Given the description of an element on the screen output the (x, y) to click on. 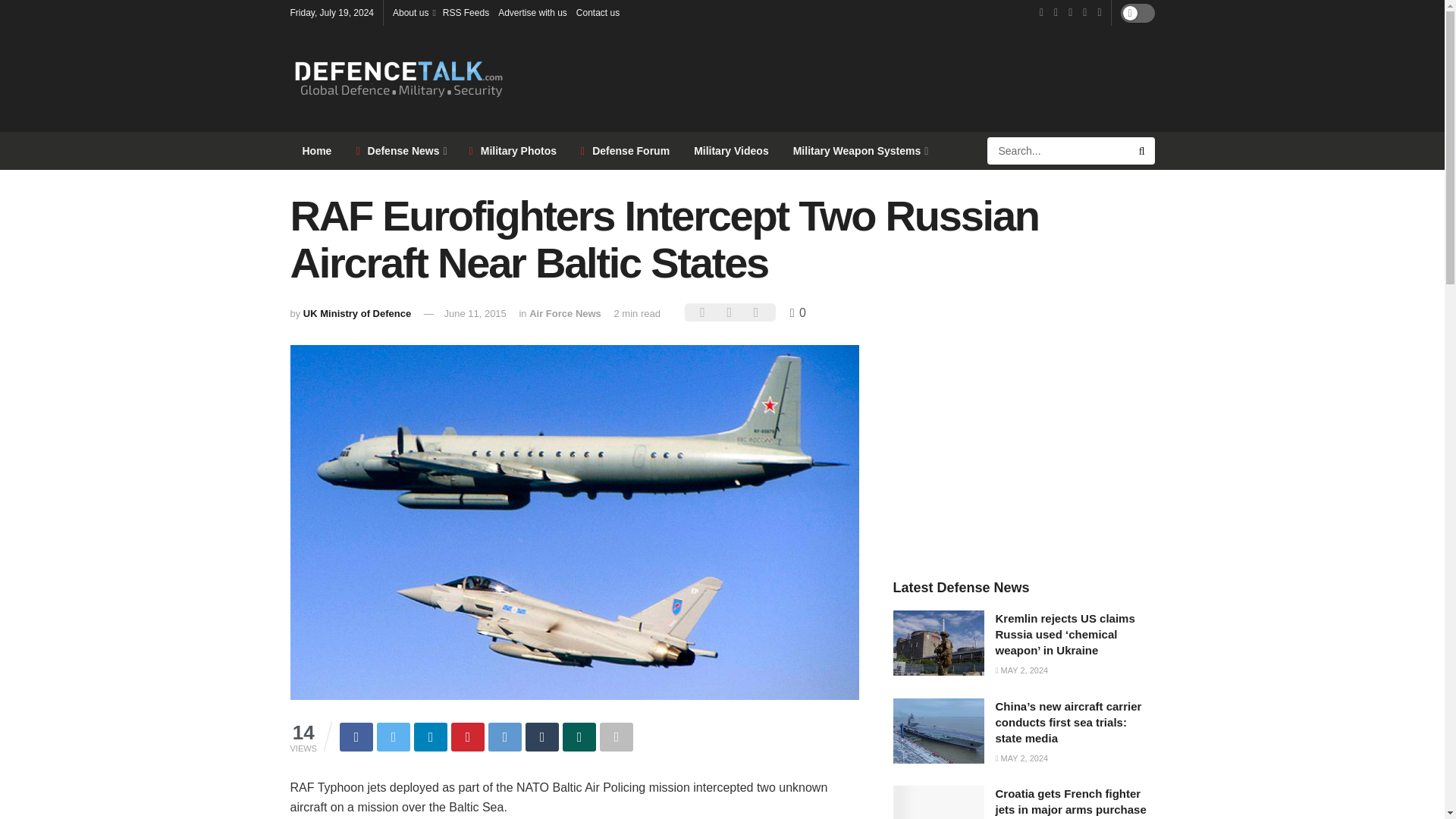
Advertise with us (532, 12)
About us (413, 12)
Military Weapon Systems (859, 150)
Defense Forum (625, 150)
Military Photos (513, 150)
Defense News (400, 150)
RSS Feeds (465, 12)
Advertise (532, 12)
Defense News (400, 150)
About Defense Talk (413, 12)
Military Videos (730, 150)
Contact us (598, 12)
Home (316, 150)
Contact us (598, 12)
